Given the description of an element on the screen output the (x, y) to click on. 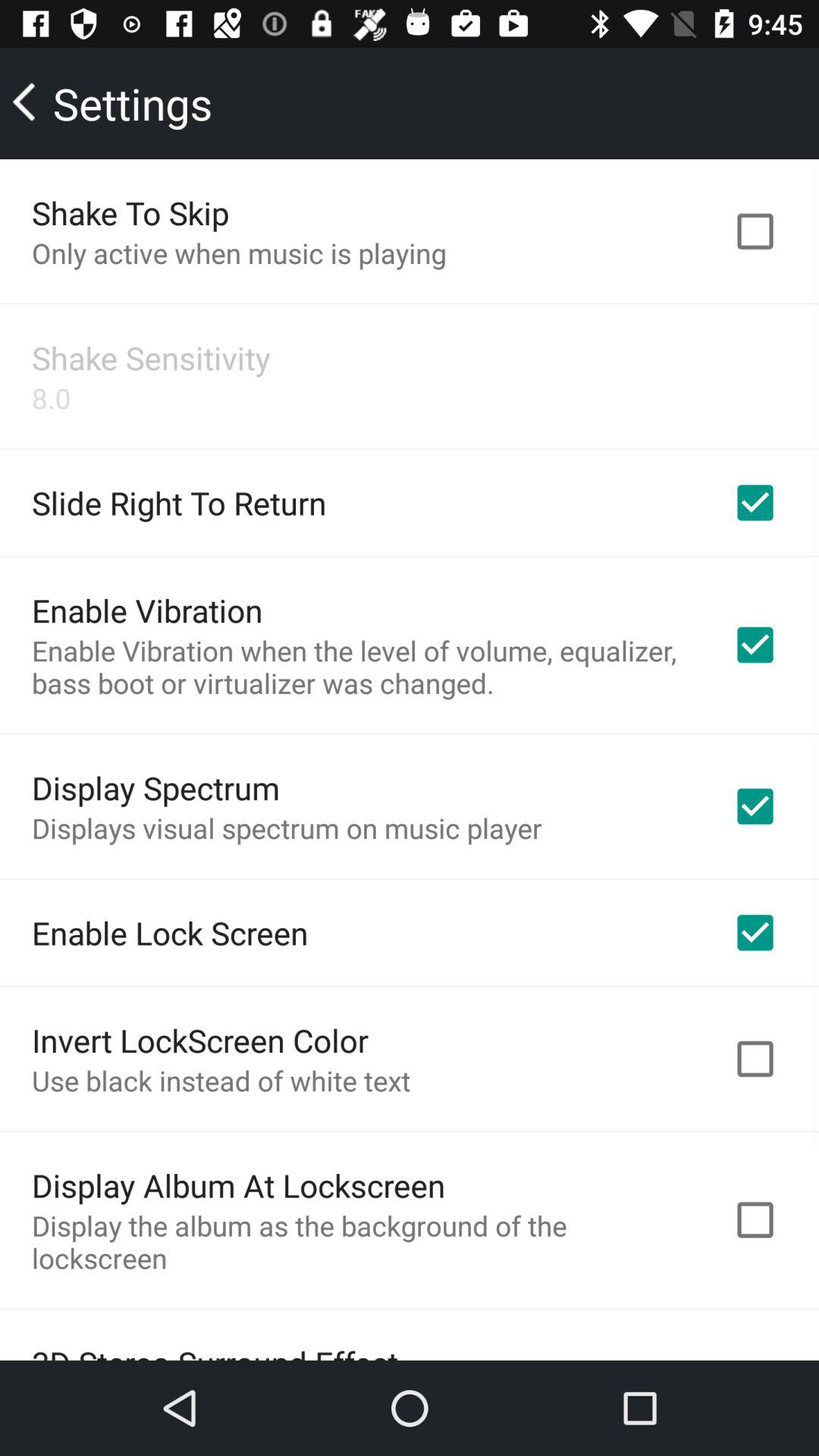
jump until 3d stereo surround item (214, 1350)
